Given the description of an element on the screen output the (x, y) to click on. 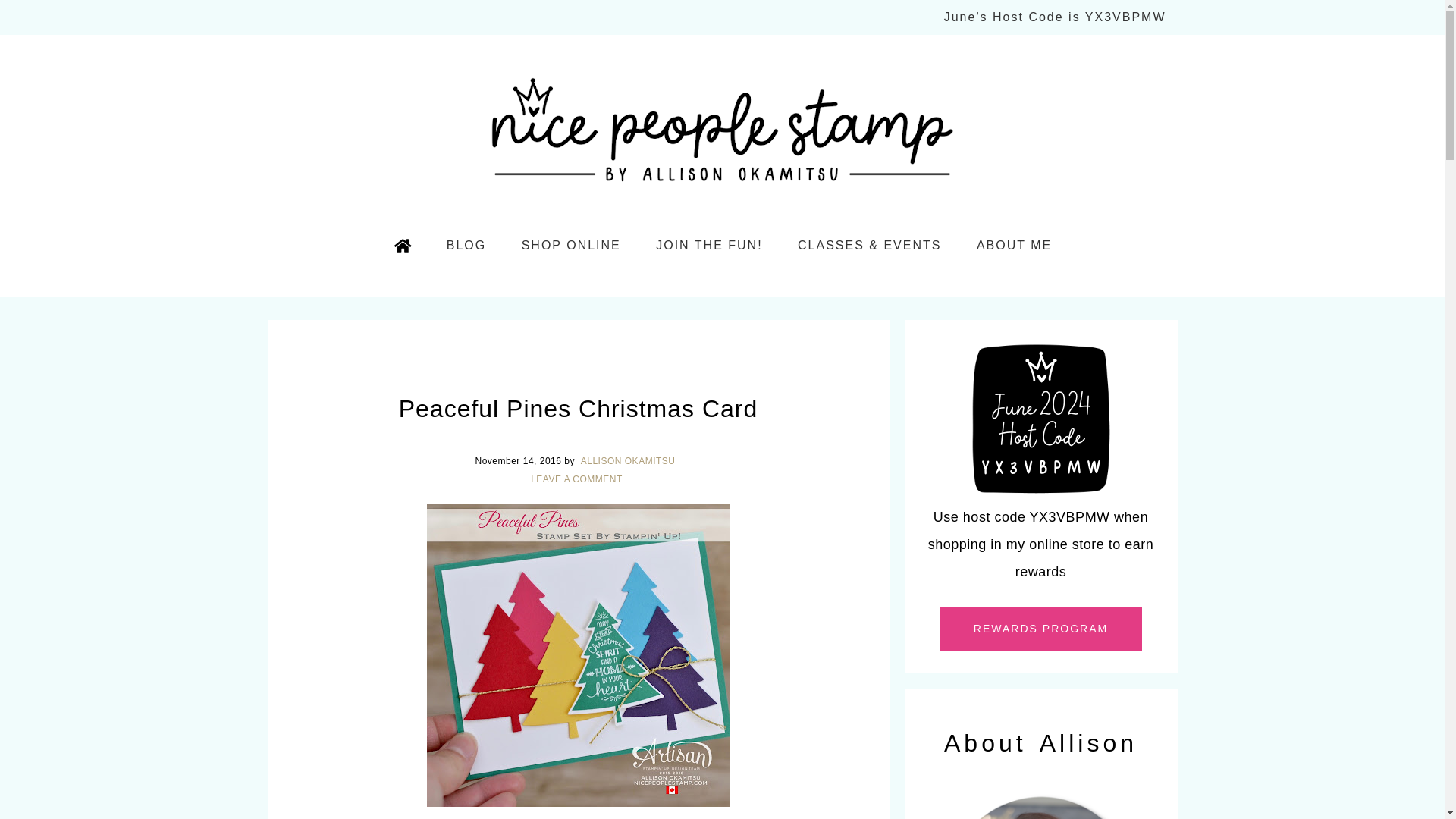
ABOUT ME (1013, 245)
BLOG (465, 245)
JOIN THE FUN! (708, 245)
SHOP ONLINE (571, 245)
LEAVE A COMMENT (577, 479)
ALLISON OKAMITSU (629, 460)
